Given the description of an element on the screen output the (x, y) to click on. 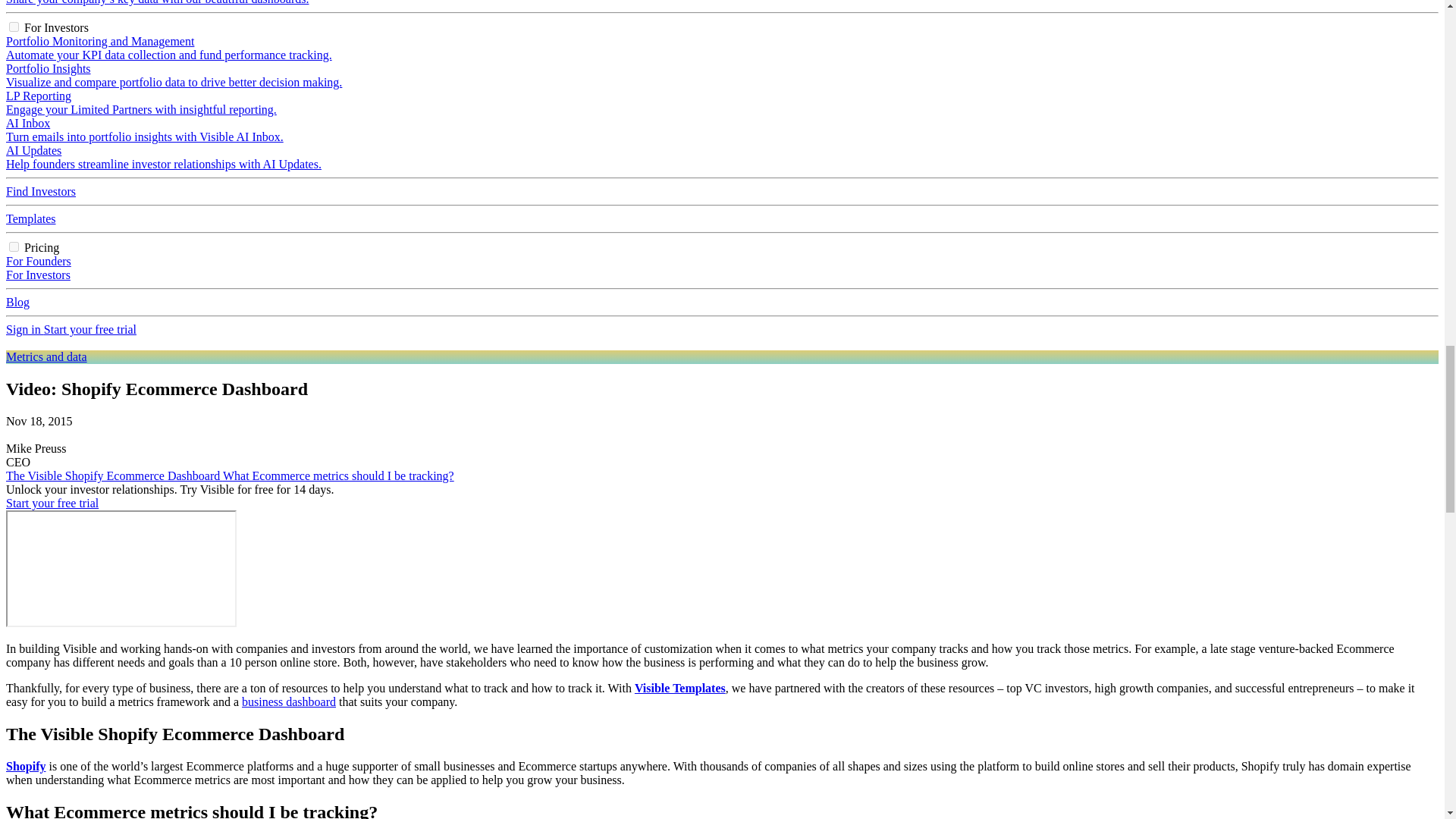
Visible Templates (679, 687)
on (13, 246)
Find Investors (40, 191)
The Visible Shopify Ecommerce Dashboard (113, 475)
What Ecommerce metrics should I be tracking? (338, 475)
Start your free trial (52, 502)
Sign in (24, 328)
Start your free trial (89, 328)
Templates (30, 218)
Blog (17, 301)
business dashboard (288, 701)
on (13, 26)
